Given the description of an element on the screen output the (x, y) to click on. 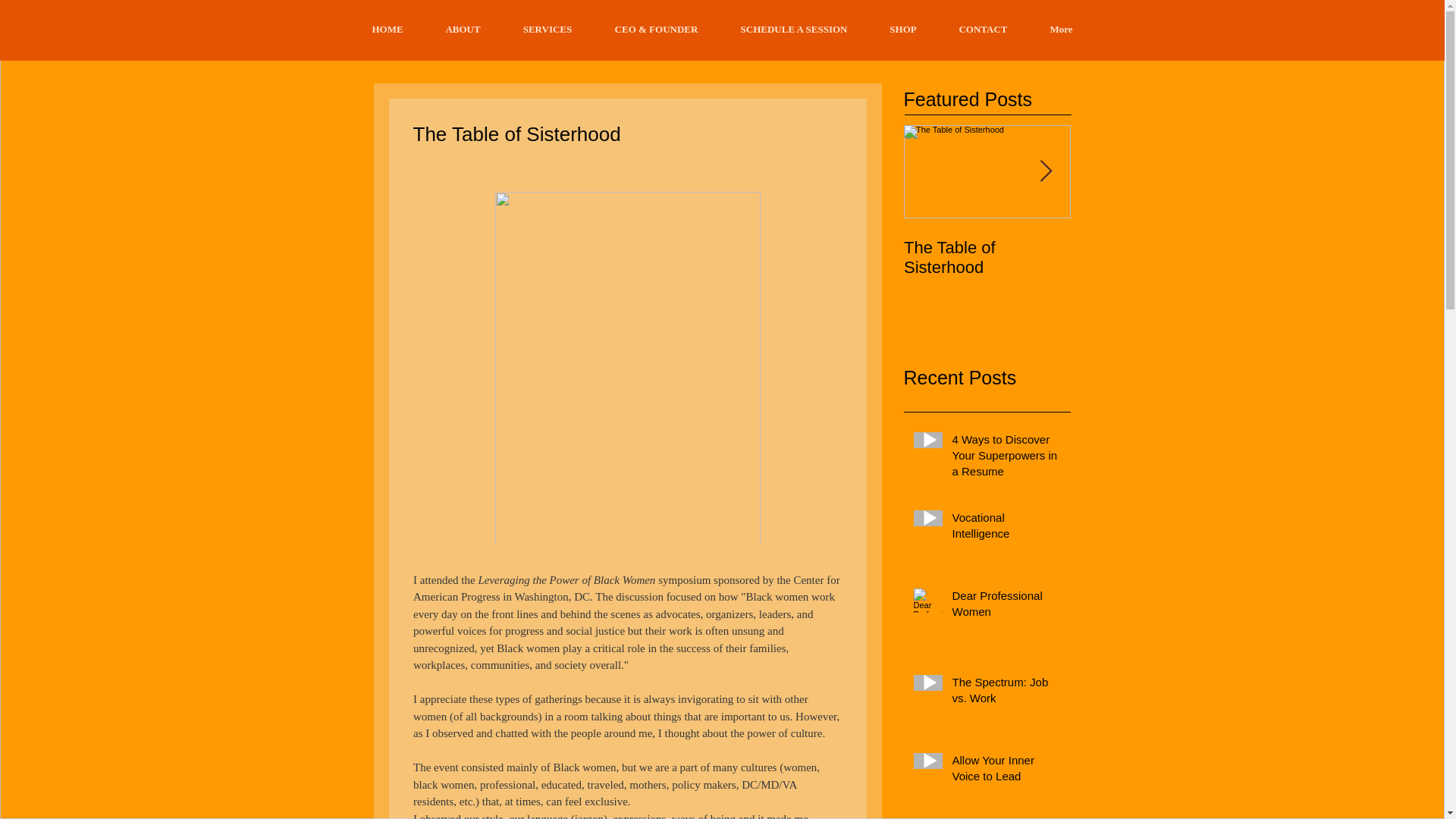
The Table of Sisterhood (987, 257)
I Can Be Natural AND... (1153, 257)
SCHEDULE A SESSION (793, 28)
Allow Your Inner Voice to Lead (1006, 771)
ABOUT (463, 28)
The Spectrum: Job vs. Work (1006, 692)
CONTACT (982, 28)
Vocational Intelligence (1006, 528)
HOME (386, 28)
4 Ways to Discover Your Superpowers in a Resume (1006, 458)
